Given the description of an element on the screen output the (x, y) to click on. 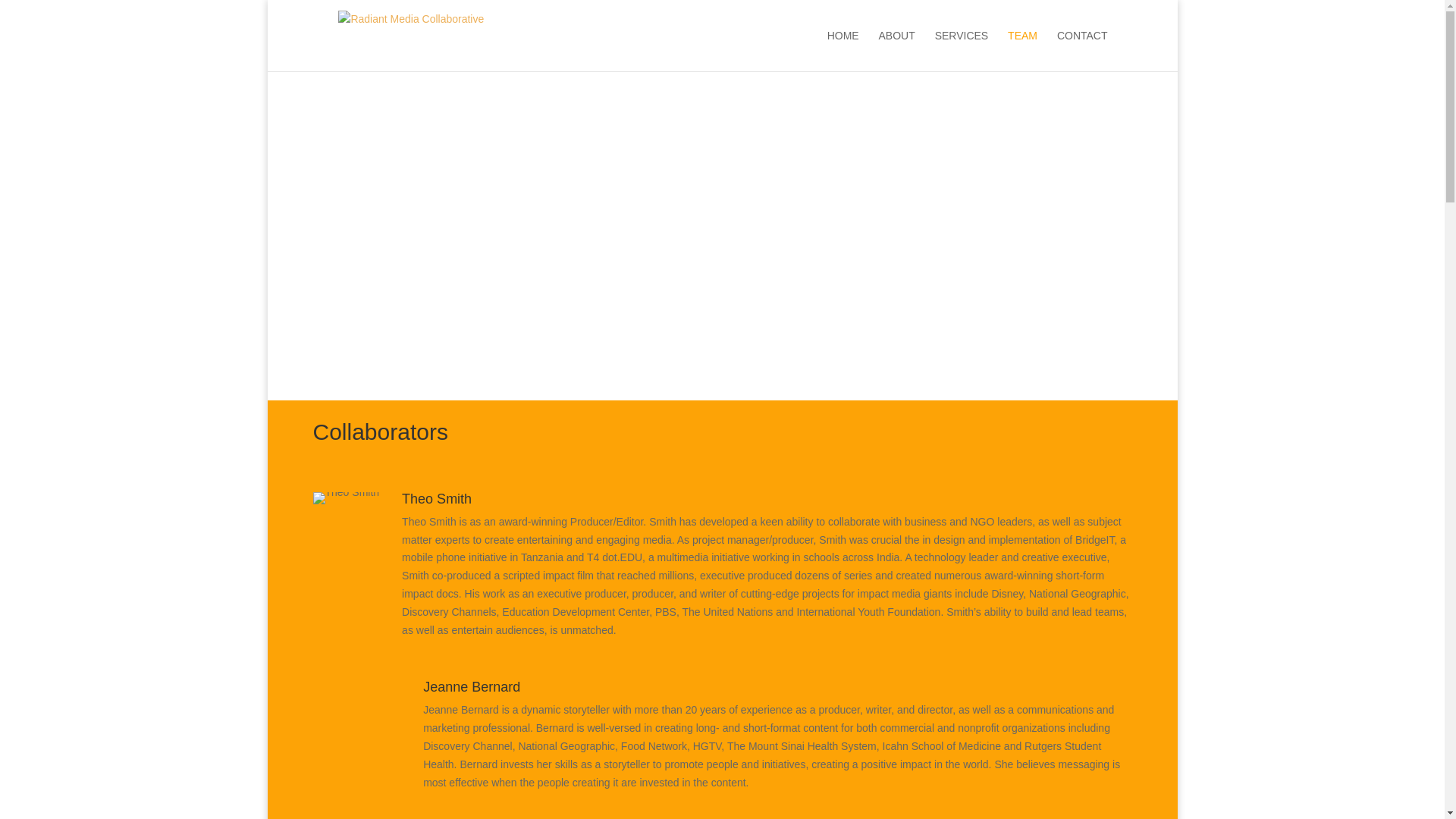
CONTACT (1082, 50)
ABOUT (897, 50)
SERVICES (961, 50)
